Given the description of an element on the screen output the (x, y) to click on. 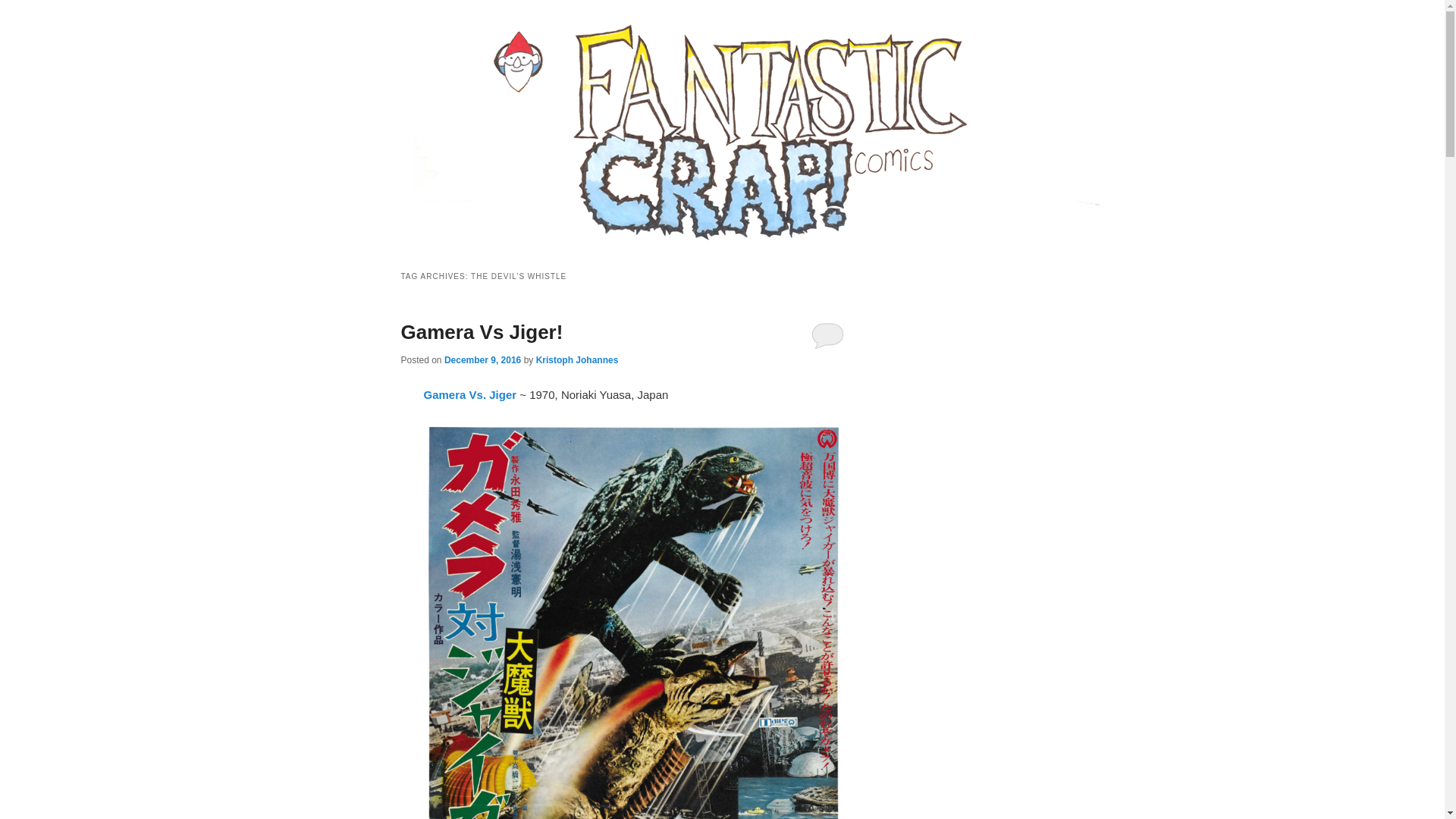
Fantastic Crap Comics (523, 77)
Permalink to Gamera Vs Jiger! (481, 332)
Fantastic Crap Comics (523, 77)
View all posts by Kristoph Johannes (576, 359)
5:40 am (482, 359)
Search (24, 8)
